Given the description of an element on the screen output the (x, y) to click on. 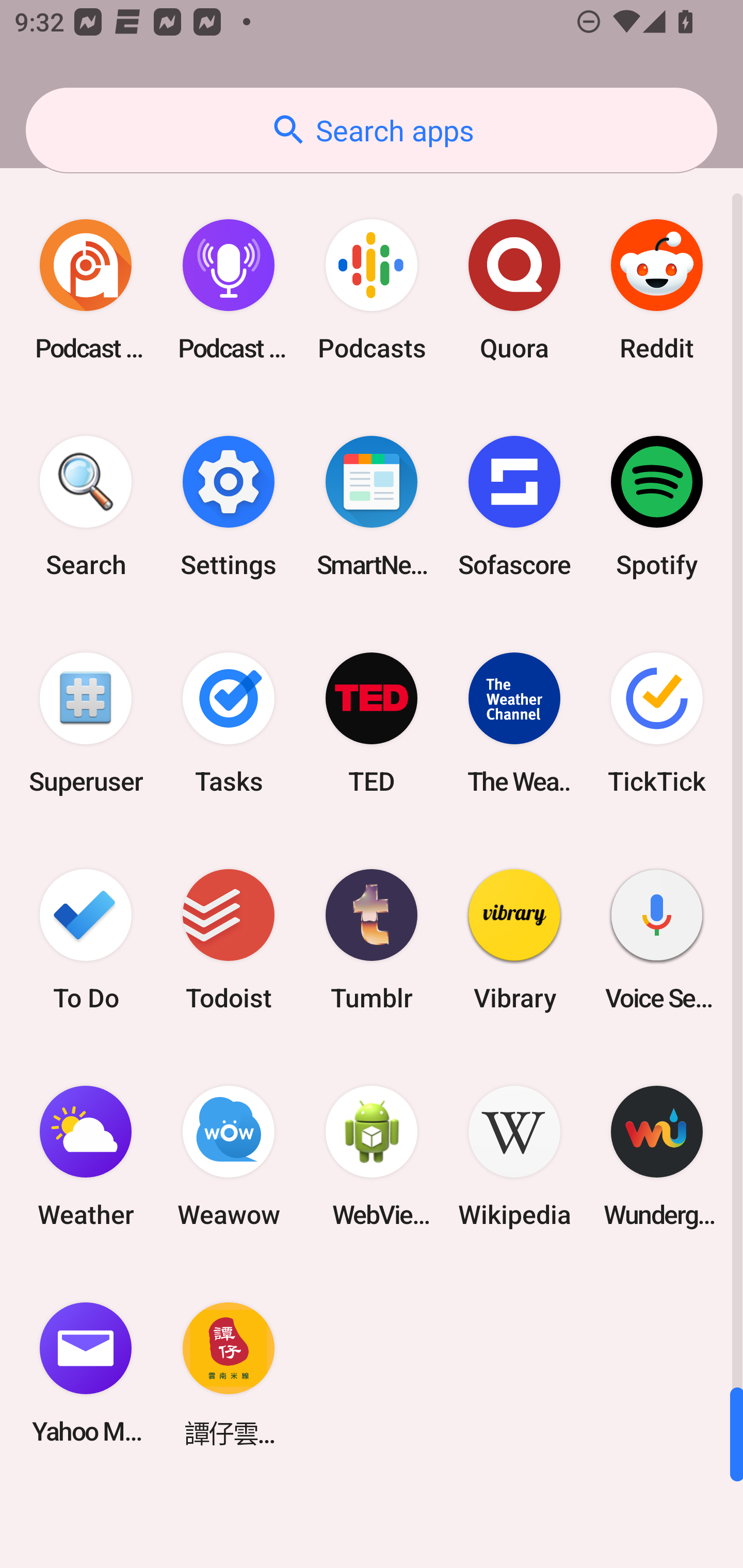
  Search apps (371, 130)
Podcast Addict (85, 289)
Podcast Player (228, 289)
Podcasts (371, 289)
Quora (514, 289)
Reddit (656, 289)
Search (85, 506)
Settings (228, 506)
SmartNews (371, 506)
Sofascore (514, 506)
Spotify (656, 506)
Superuser (85, 722)
Tasks (228, 722)
TED (371, 722)
The Weather Channel (514, 722)
TickTick (656, 722)
To Do (85, 939)
Todoist (228, 939)
Tumblr (371, 939)
Vibrary (514, 939)
Voice Search (656, 939)
Weather (85, 1156)
Weawow (228, 1156)
WebView Browser Tester (371, 1156)
Wikipedia (514, 1156)
Wunderground (656, 1156)
Yahoo Mail (85, 1373)
譚仔雲南米線 (228, 1373)
